Given the description of an element on the screen output the (x, y) to click on. 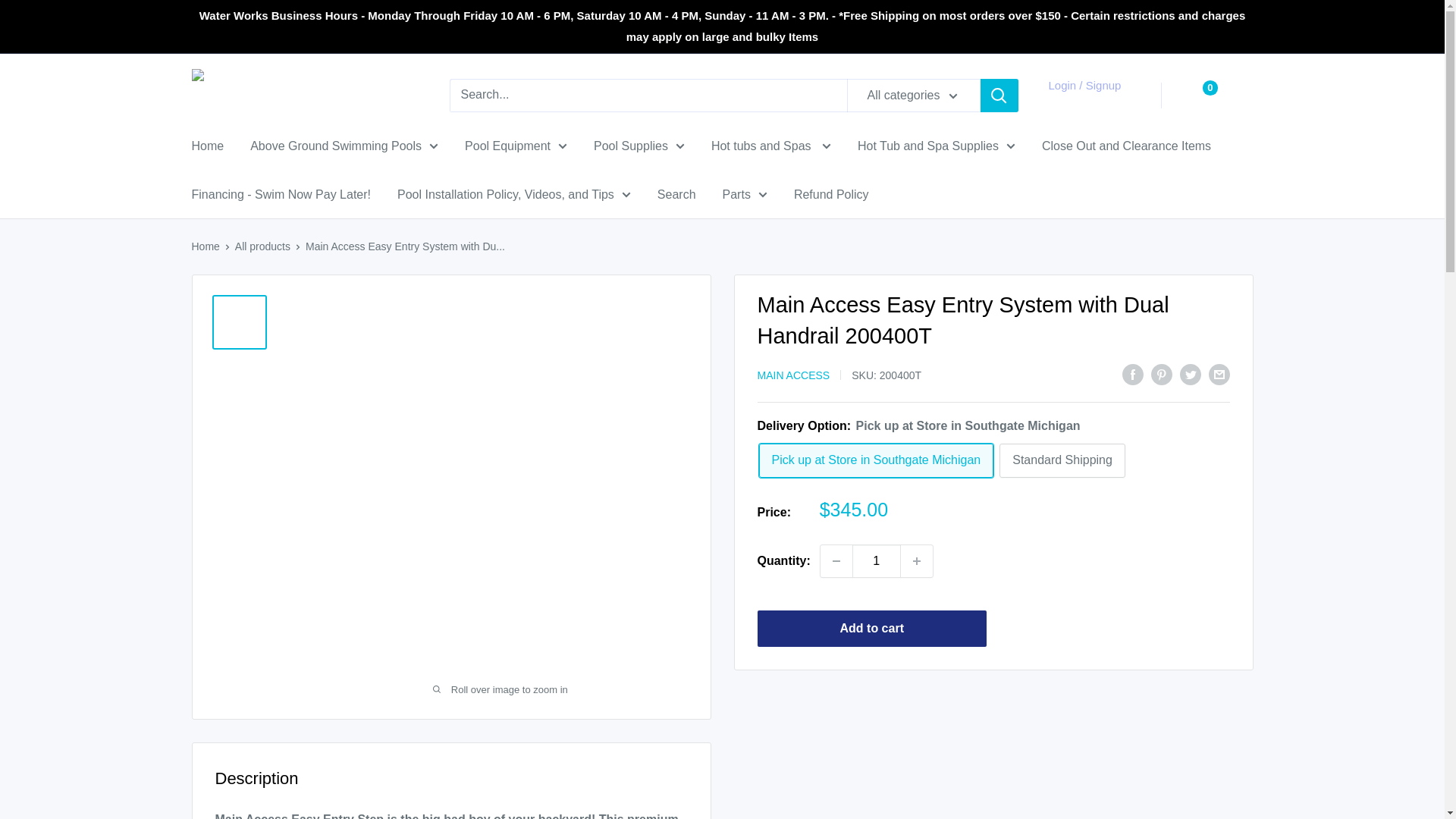
1 (876, 561)
Increase quantity by 1 (917, 561)
Standard Shipping (1061, 460)
Decrease quantity by 1 (836, 561)
Pick up at Store in Southgate Michigan (875, 460)
